Given the description of an element on the screen output the (x, y) to click on. 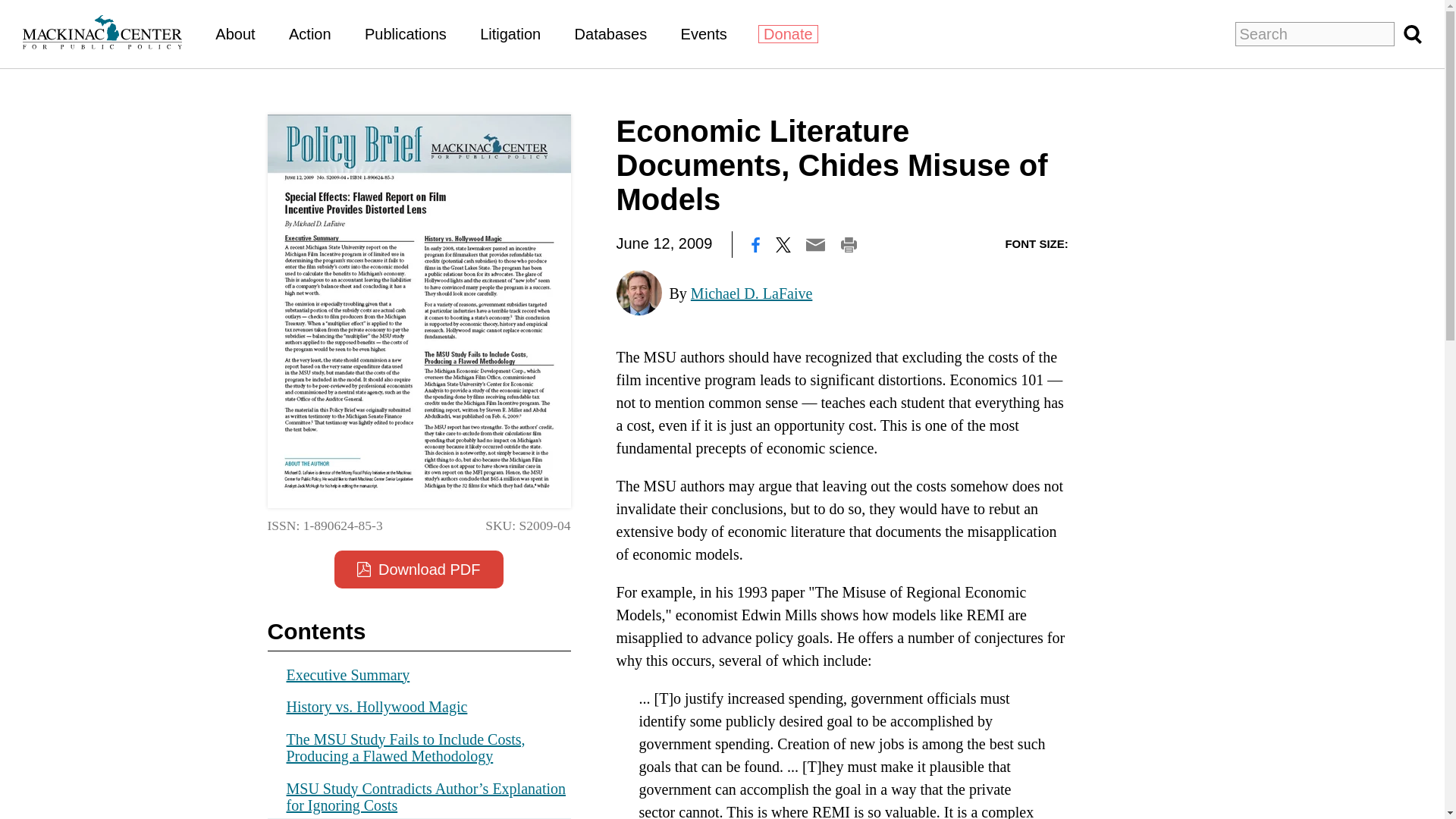
History vs. Hollywood Magic (376, 706)
Executive Summary (348, 673)
Download PDF (418, 569)
Publications (405, 33)
About (234, 33)
Action (309, 33)
Litigation (510, 33)
Events (703, 33)
Michael D. LaFaive (751, 293)
Databases (611, 33)
Donate (788, 34)
